Given the description of an element on the screen output the (x, y) to click on. 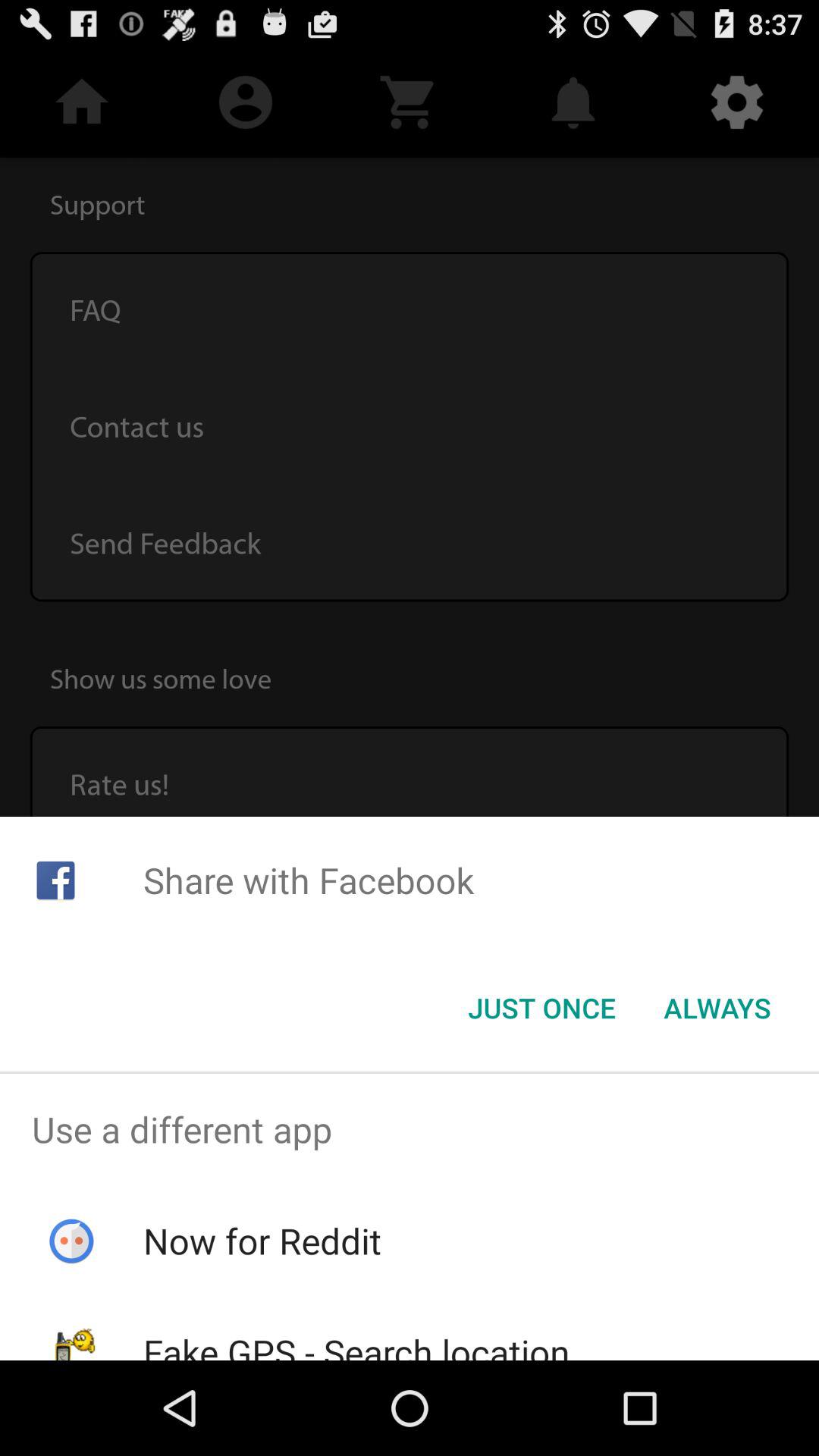
press now for reddit (262, 1240)
